Given the description of an element on the screen output the (x, y) to click on. 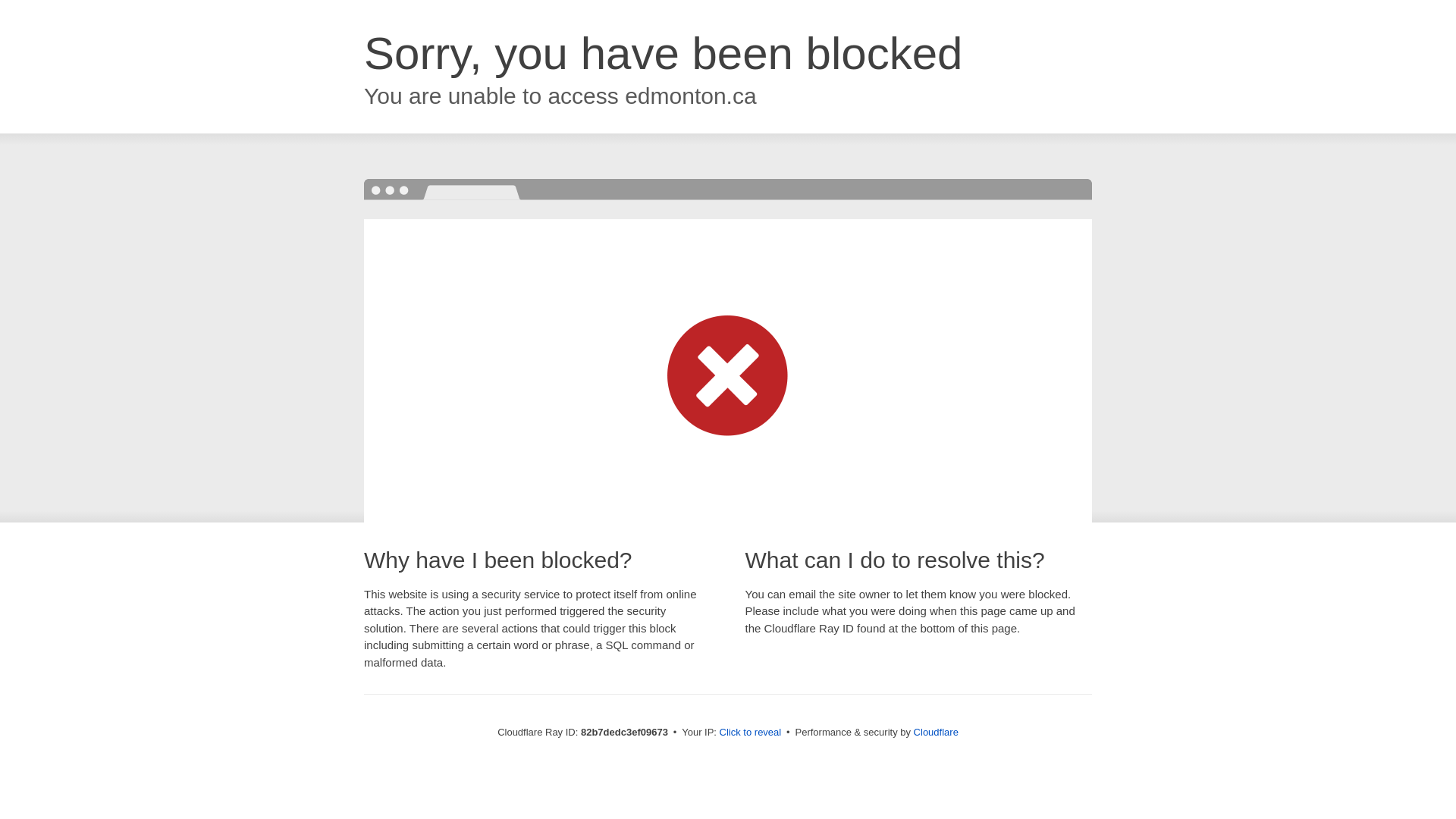
Click to reveal Element type: text (750, 732)
Cloudflare Element type: text (935, 731)
